Given the description of an element on the screen output the (x, y) to click on. 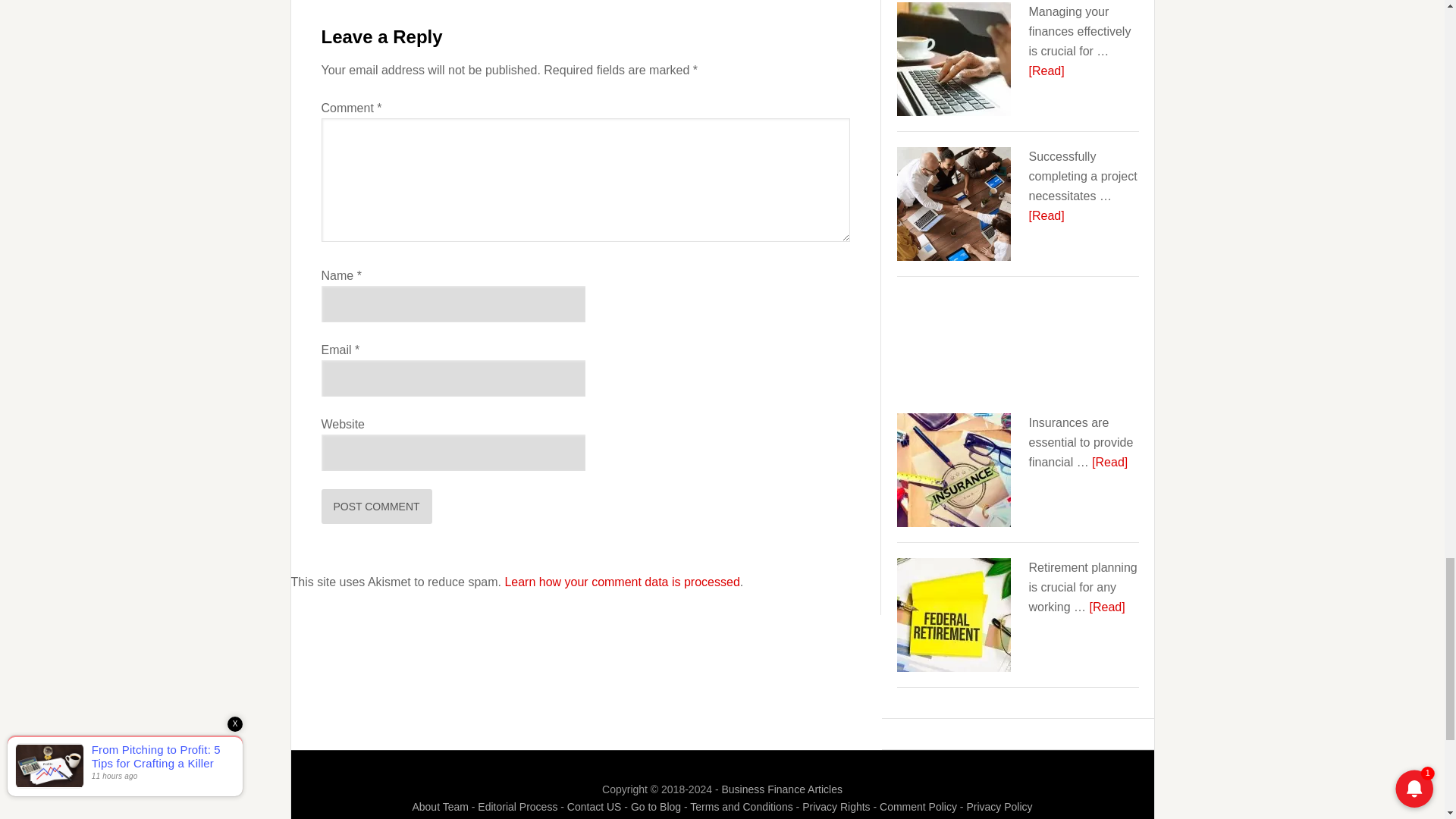
Advertisement (1017, 348)
Learn how your comment data is processed (621, 581)
Post Comment (376, 506)
Business Finance Articles (781, 788)
Post Comment (376, 506)
